Given the description of an element on the screen output the (x, y) to click on. 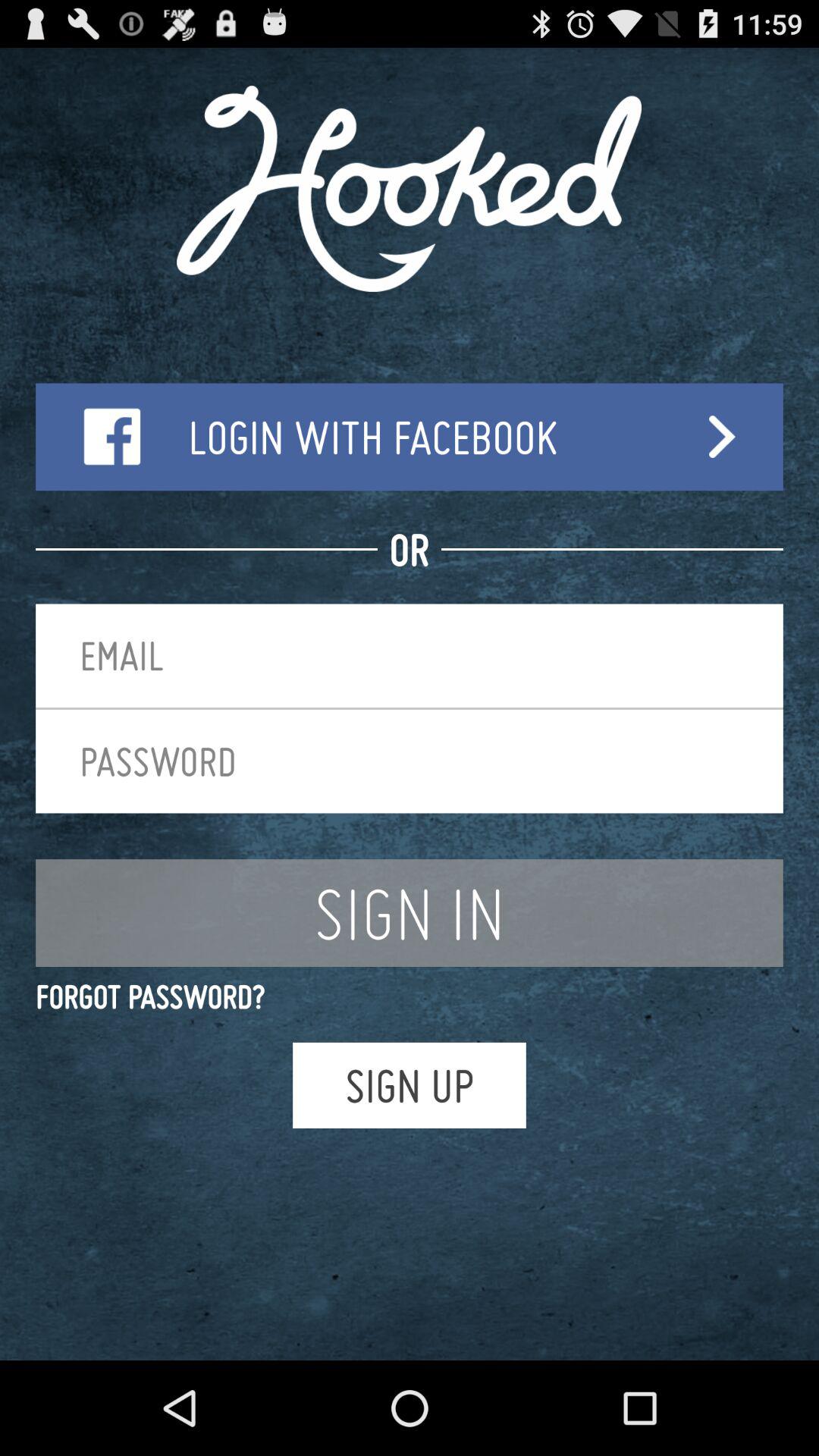
tap app below forgot password? (409, 1085)
